Given the description of an element on the screen output the (x, y) to click on. 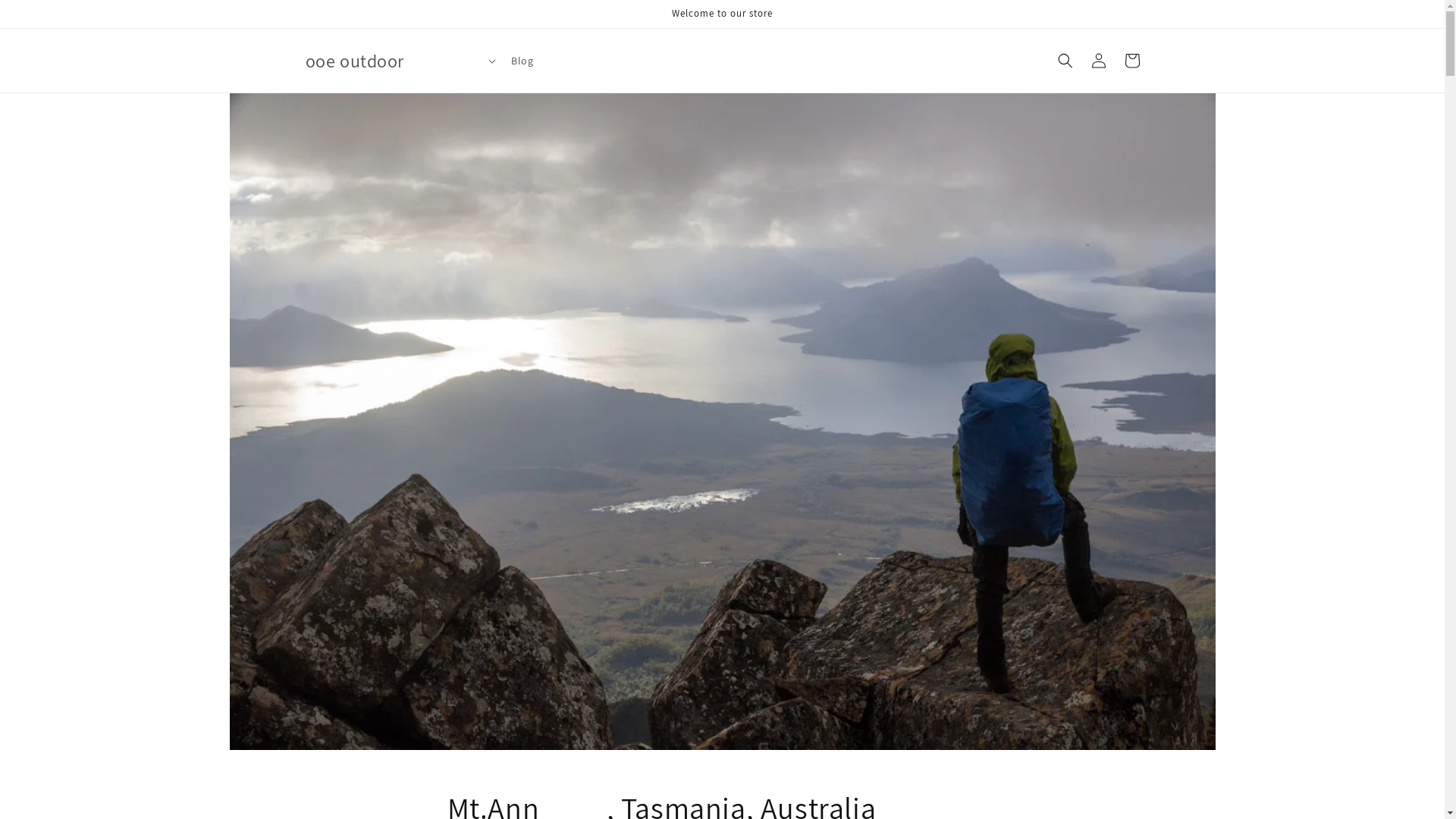
ooe outdoor Element type: text (354, 60)
Blog Element type: text (522, 60)
